Given the description of an element on the screen output the (x, y) to click on. 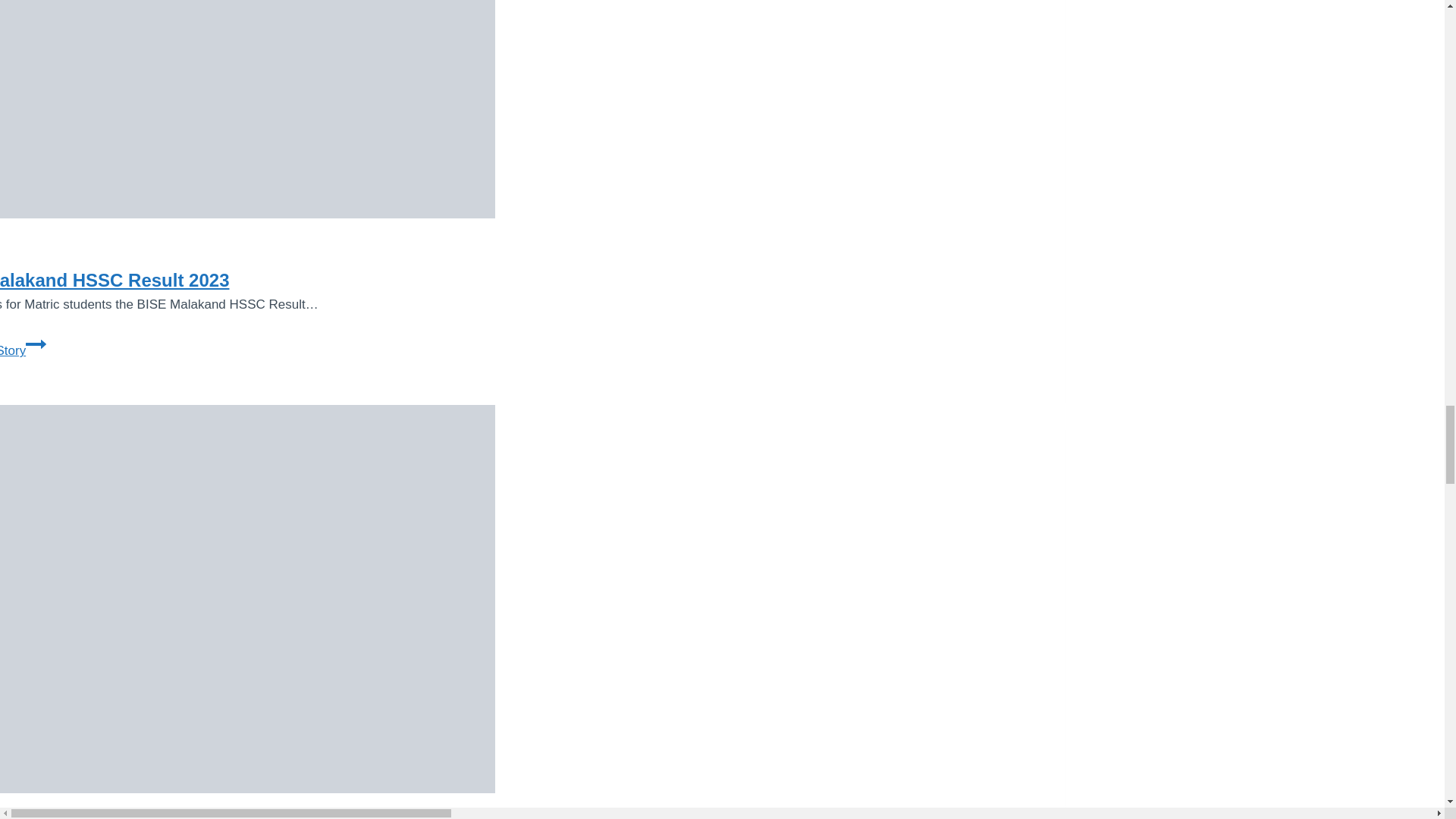
BISE Malakand HSSC Result 2023 7 (247, 109)
Continue (36, 343)
